Given the description of an element on the screen output the (x, y) to click on. 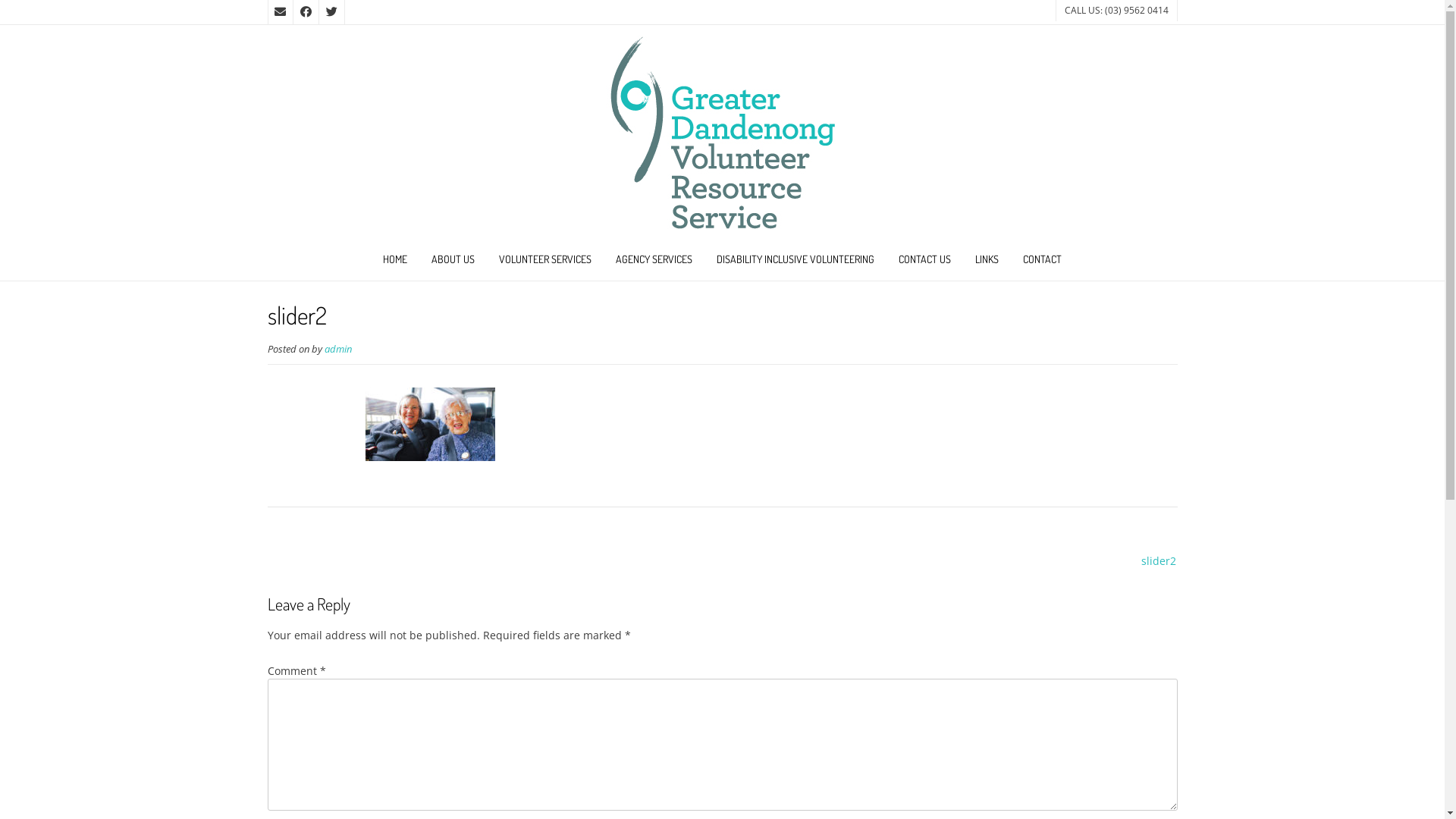
DISABILITY INCLUSIVE VOLUNTEERING Element type: text (795, 260)
Send Us an Email Element type: hover (279, 12)
CONTACT Element type: text (1041, 260)
VOLUNTEER SERVICES Element type: text (544, 260)
HOME Element type: text (394, 260)
AGENCY SERVICES Element type: text (653, 260)
admin Element type: text (337, 348)
CONTACT US Element type: text (924, 260)
slider2 Element type: text (1143, 560)
ABOUT US Element type: text (452, 260)
Follow Us on Twitter Element type: hover (331, 12)
LINKS Element type: text (986, 260)
Find Us on Facebook Element type: hover (305, 12)
